Given the description of an element on the screen output the (x, y) to click on. 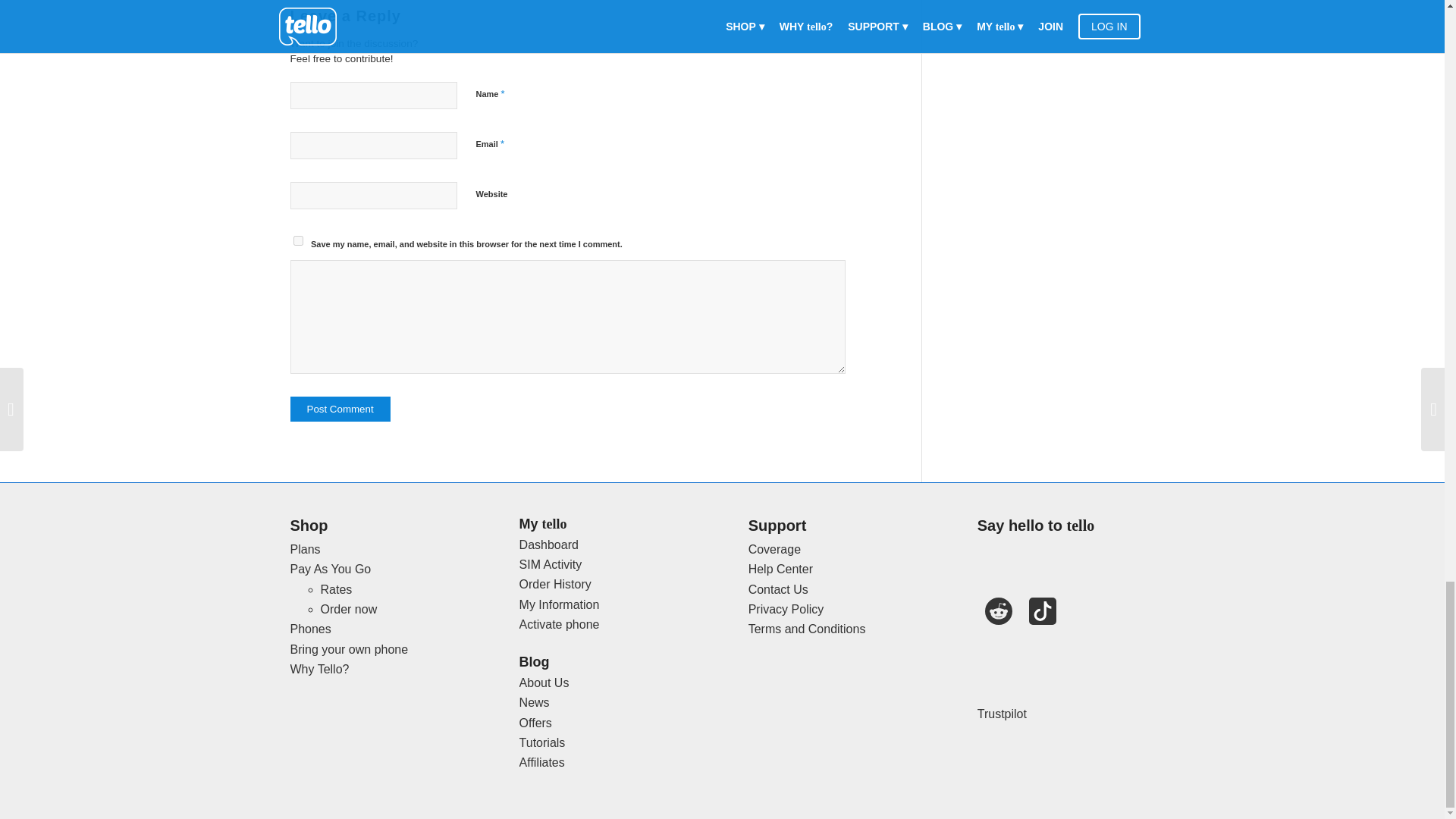
yes (297, 240)
Post Comment (339, 408)
Post Comment (339, 408)
